Given the description of an element on the screen output the (x, y) to click on. 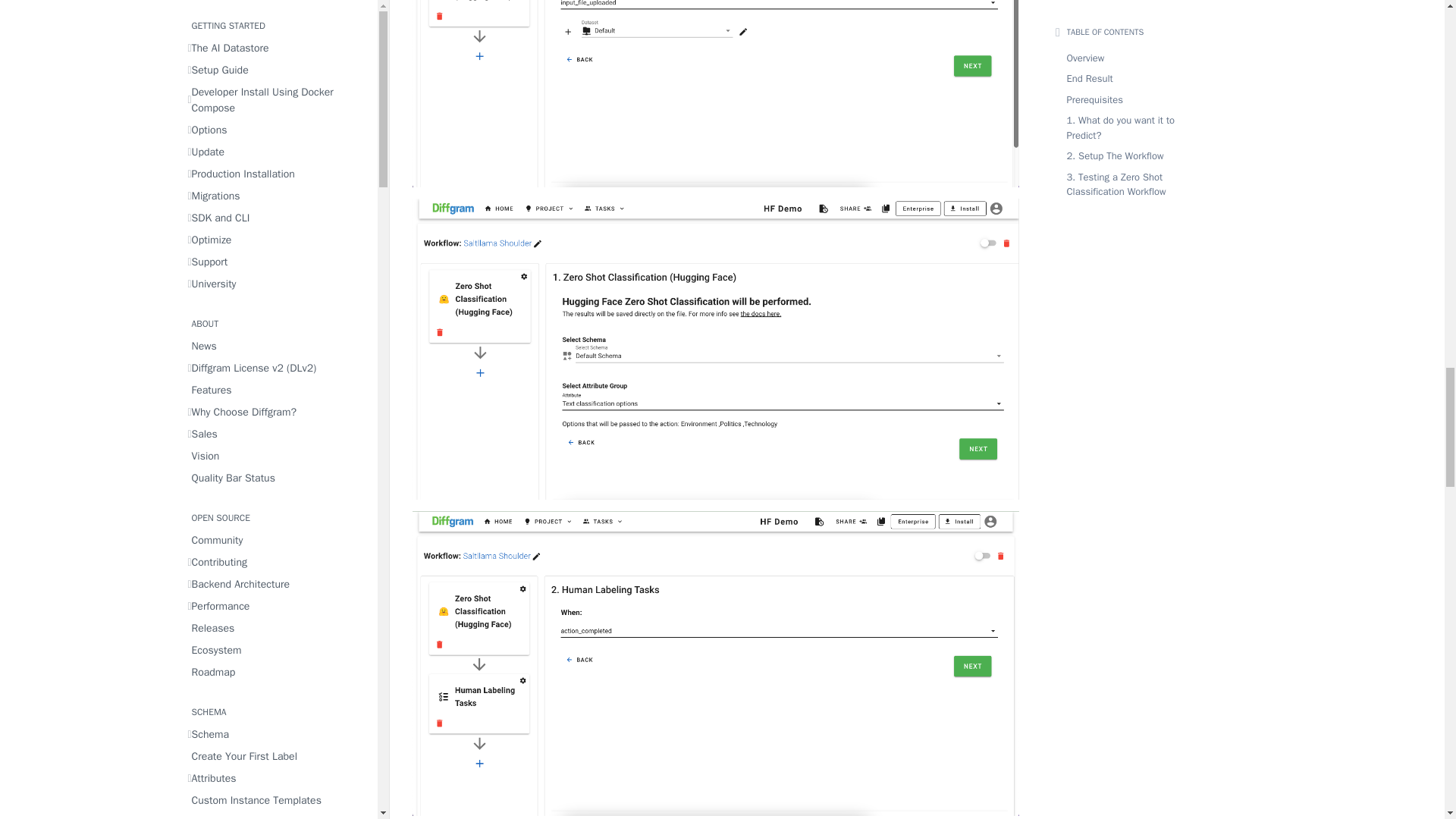
Screenshot 2022-07-15 at 11.52.32.png (715, 93)
